Given the description of an element on the screen output the (x, y) to click on. 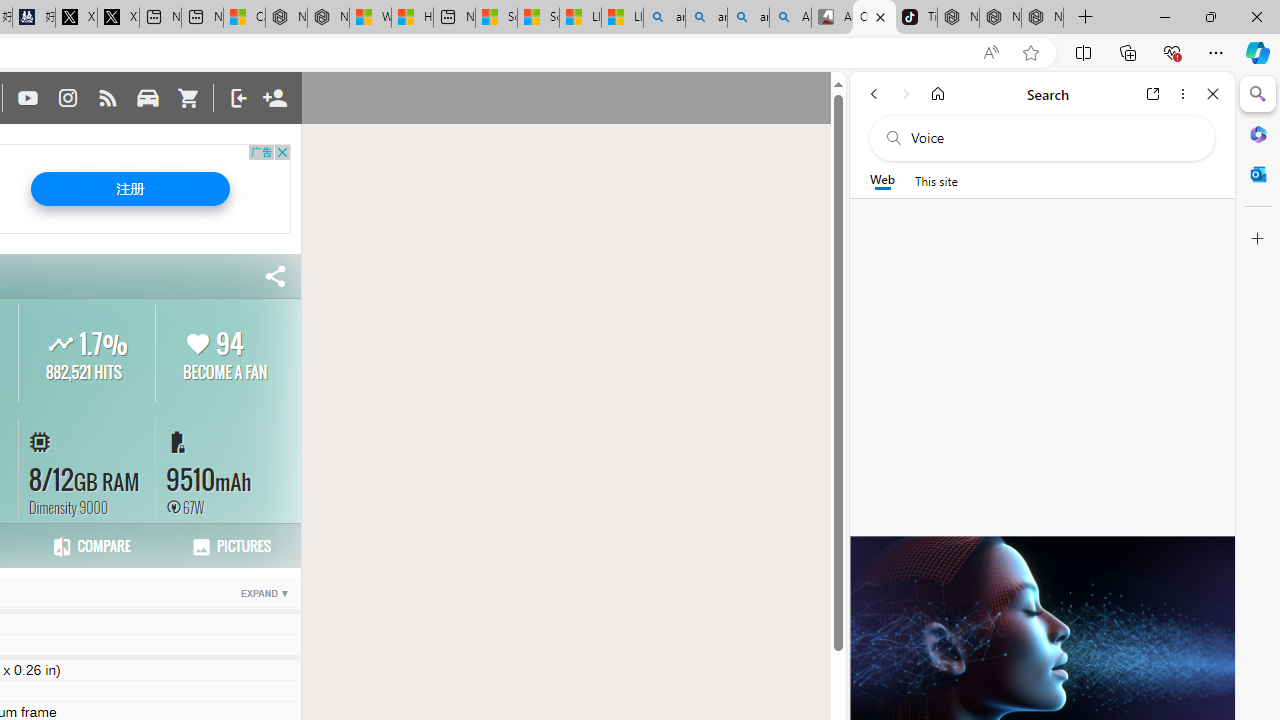
Nordace Siena Pro 15 Backpack (1000, 17)
Nordace - Summer Adventures 2024 (328, 17)
This site scope (936, 180)
